Given the description of an element on the screen output the (x, y) to click on. 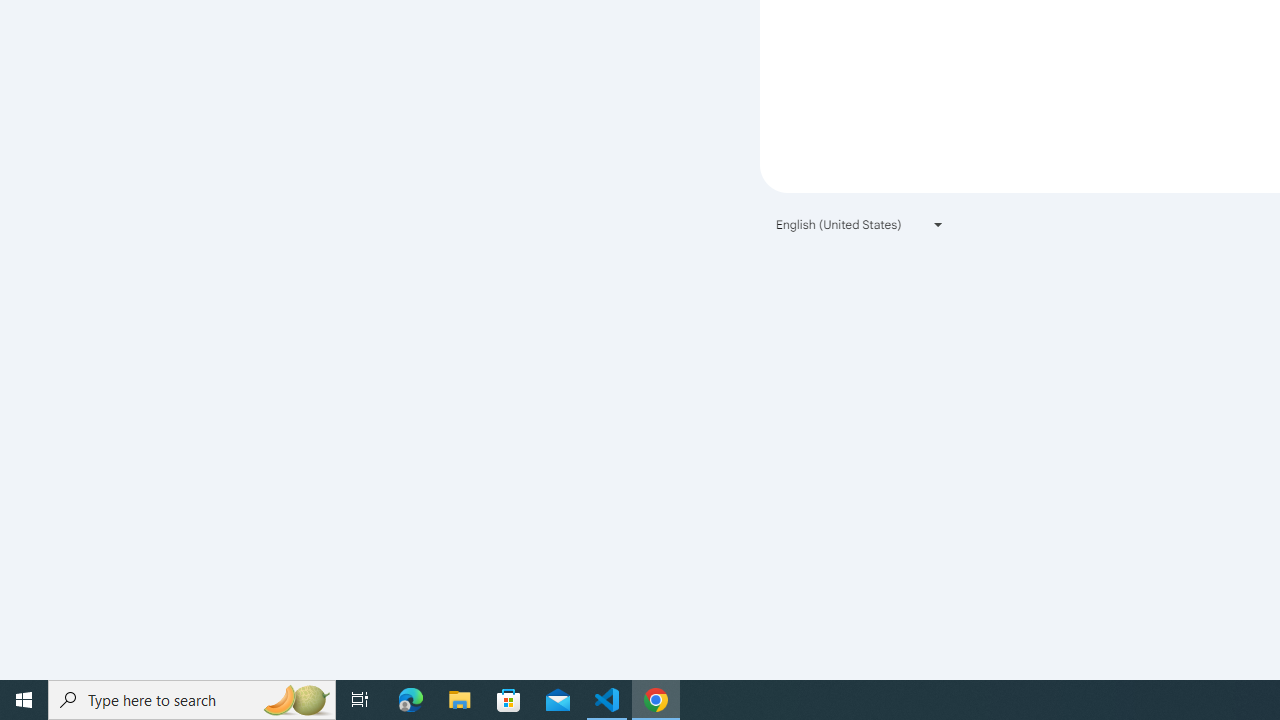
English (United States) (860, 224)
